Given the description of an element on the screen output the (x, y) to click on. 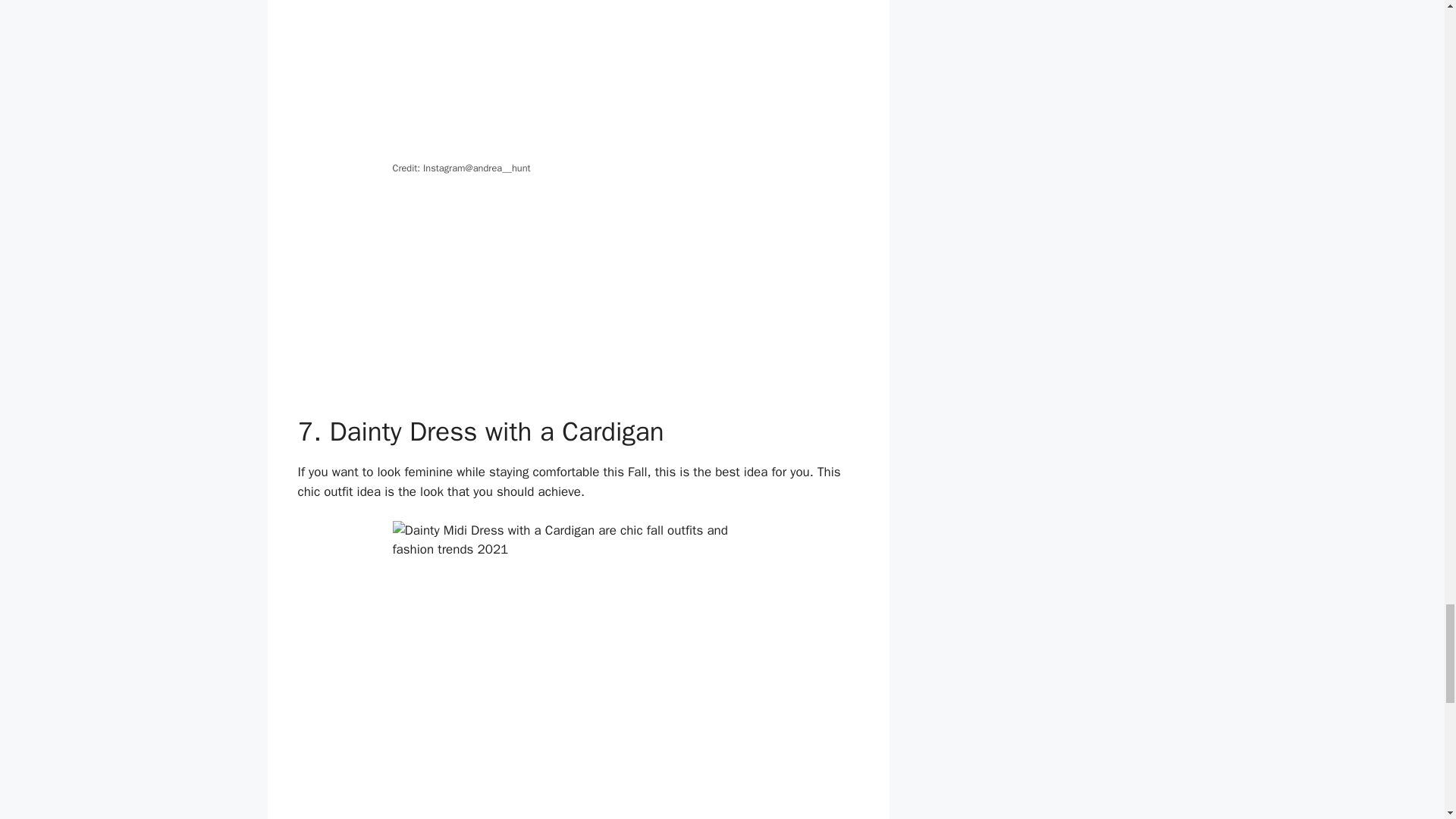
Simple Fall Outfits for Women: Sleeveless Top and Jeans (578, 79)
Dainty Dress with a Cardigan (578, 669)
